Given the description of an element on the screen output the (x, y) to click on. 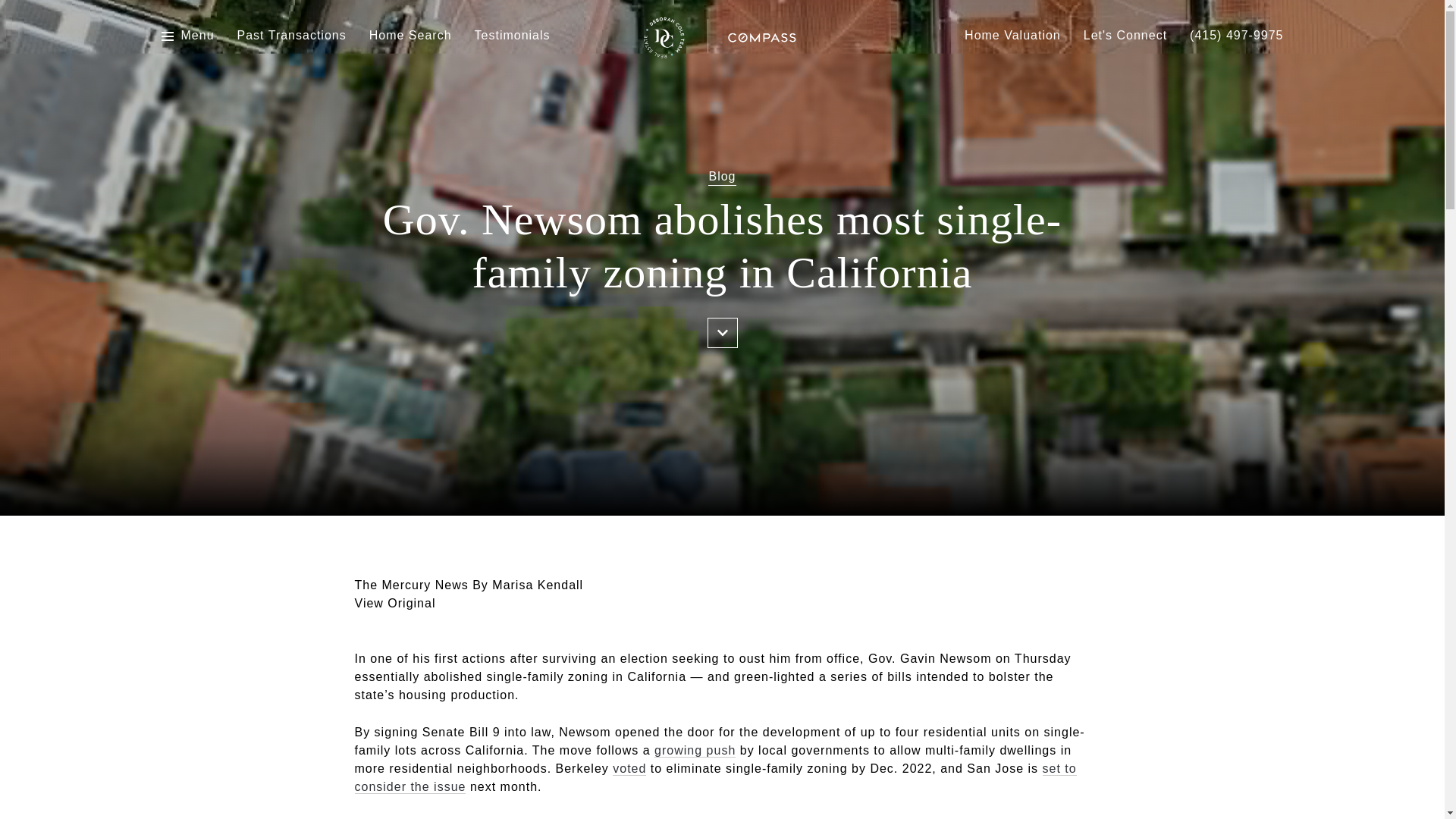
Menu (197, 35)
set to consider the issue (716, 777)
Past Transactions (291, 35)
Menu (187, 35)
Home Valuation (1012, 35)
View Original (395, 603)
Let'S Connect (1125, 35)
voted (629, 768)
Home Search (410, 35)
Testimonials (512, 35)
growing push (694, 750)
